Given the description of an element on the screen output the (x, y) to click on. 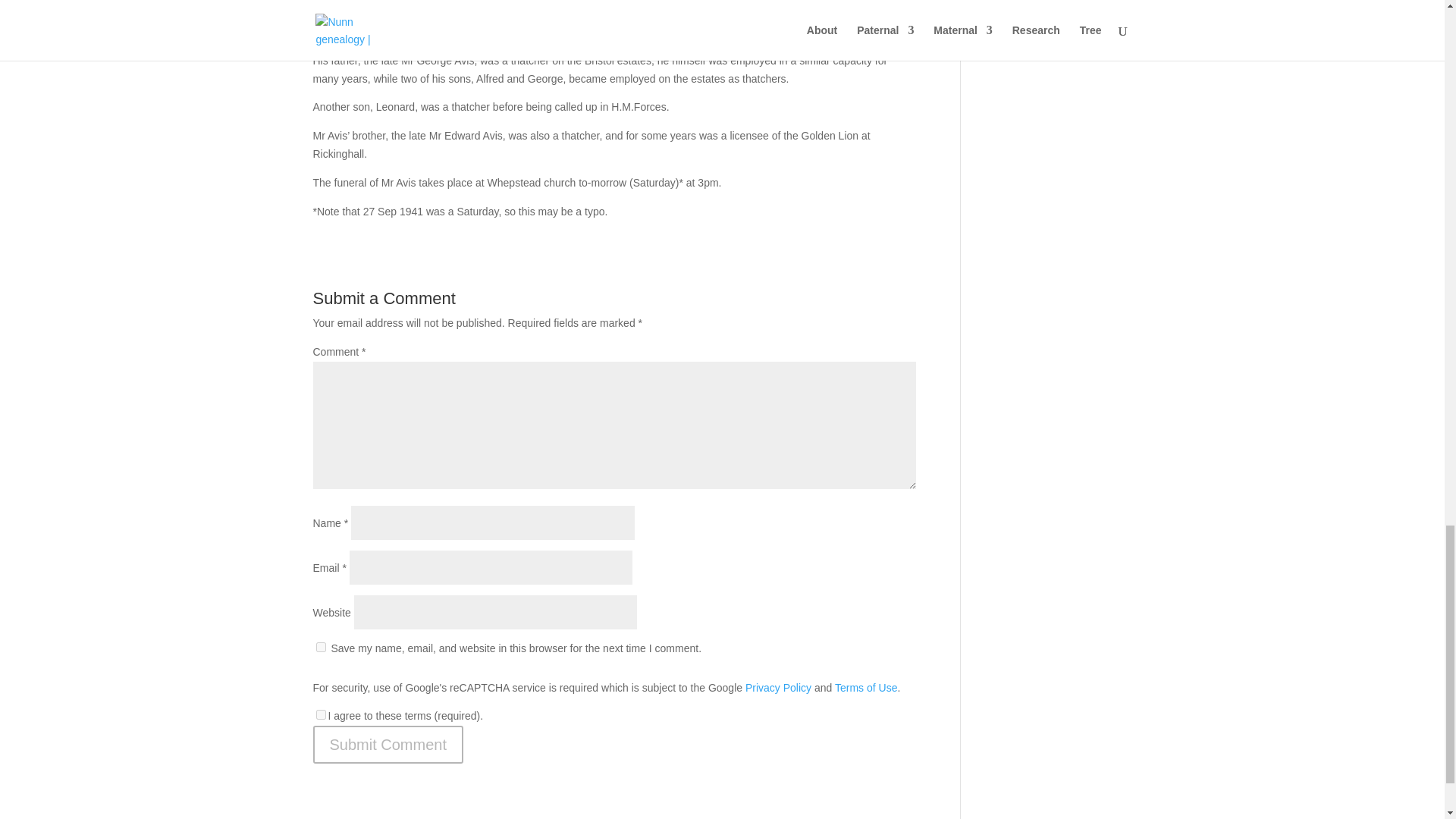
on (319, 714)
Privacy Policy (777, 687)
yes (319, 646)
Submit Comment (388, 744)
